Given the description of an element on the screen output the (x, y) to click on. 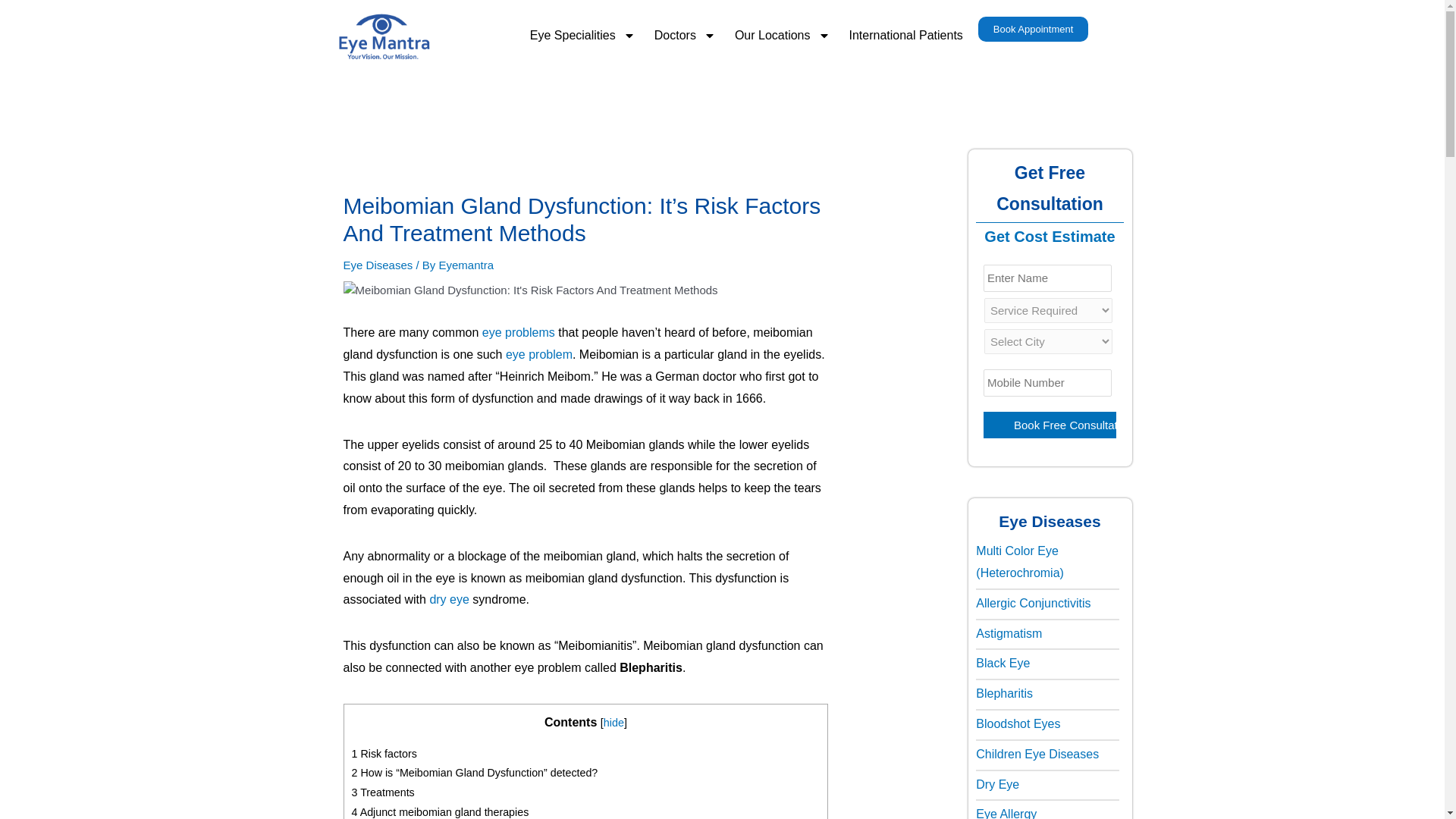
International Patients (905, 35)
Doctors (684, 35)
Eye Specialities (581, 35)
eye problems (517, 332)
Dry eye (448, 599)
Book Free Consultation (1050, 424)
Our Locations (782, 35)
View all posts by Eyemantra (465, 264)
